Given the description of an element on the screen output the (x, y) to click on. 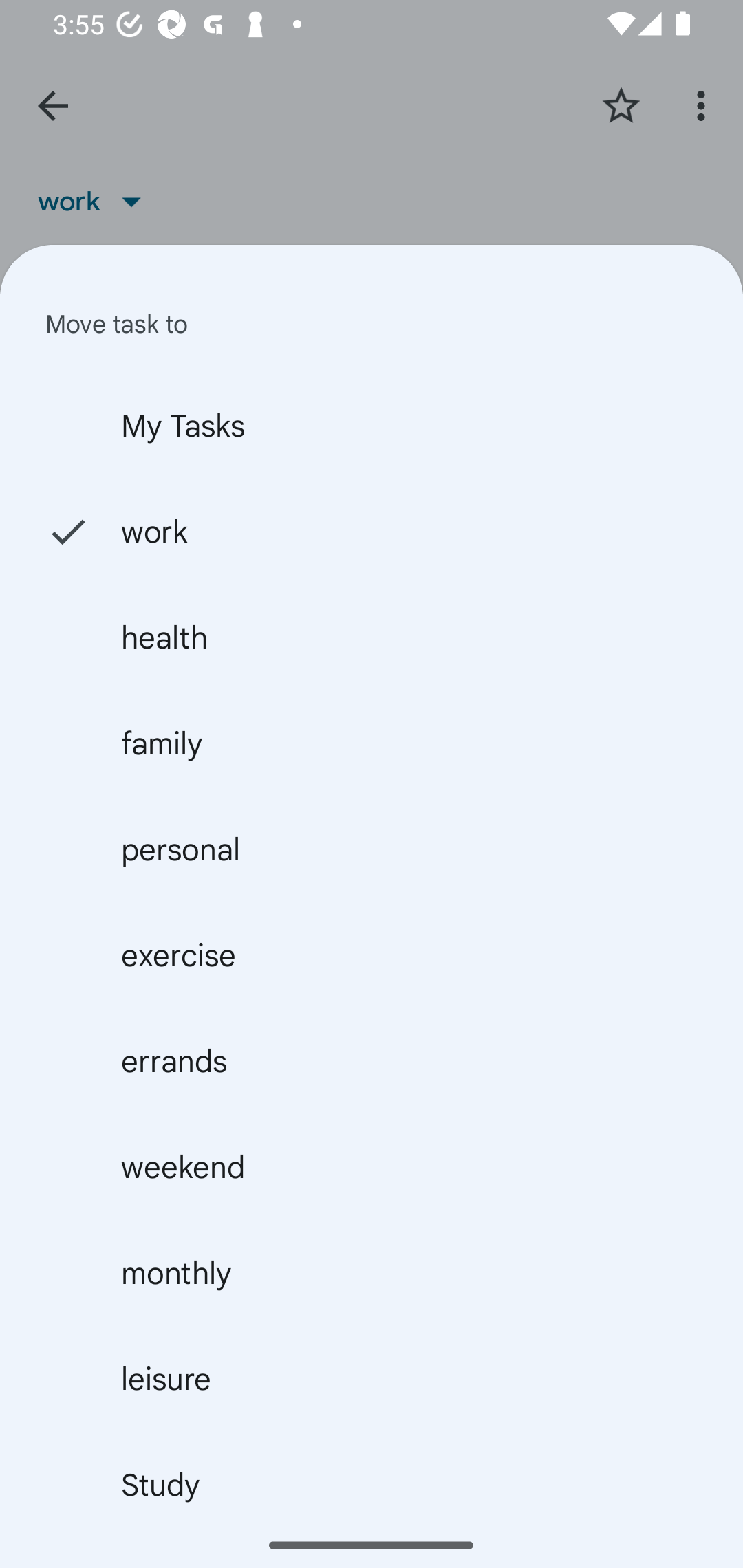
My Tasks (371, 425)
work (371, 531)
health (371, 636)
family (371, 742)
personal (371, 848)
exercise (371, 954)
errands (371, 1061)
weekend (371, 1166)
monthly (371, 1272)
leisure (371, 1378)
Study (371, 1484)
